Given the description of an element on the screen output the (x, y) to click on. 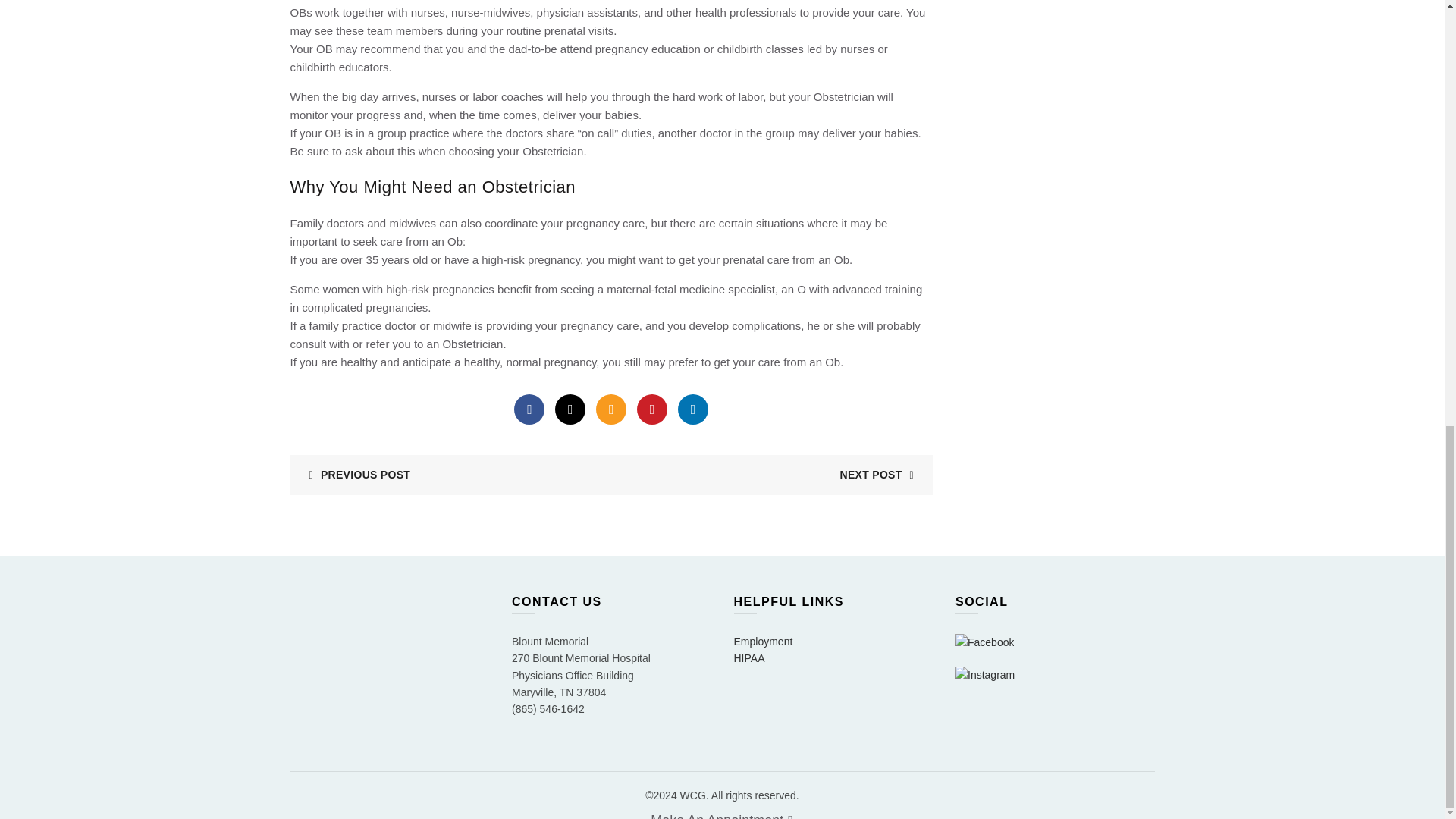
X (569, 409)
Facebook (528, 409)
NEXT POST (882, 474)
PREVIOUS POST (353, 474)
LinkedIn (692, 409)
Email (610, 409)
Pinterest (651, 409)
